Given the description of an element on the screen output the (x, y) to click on. 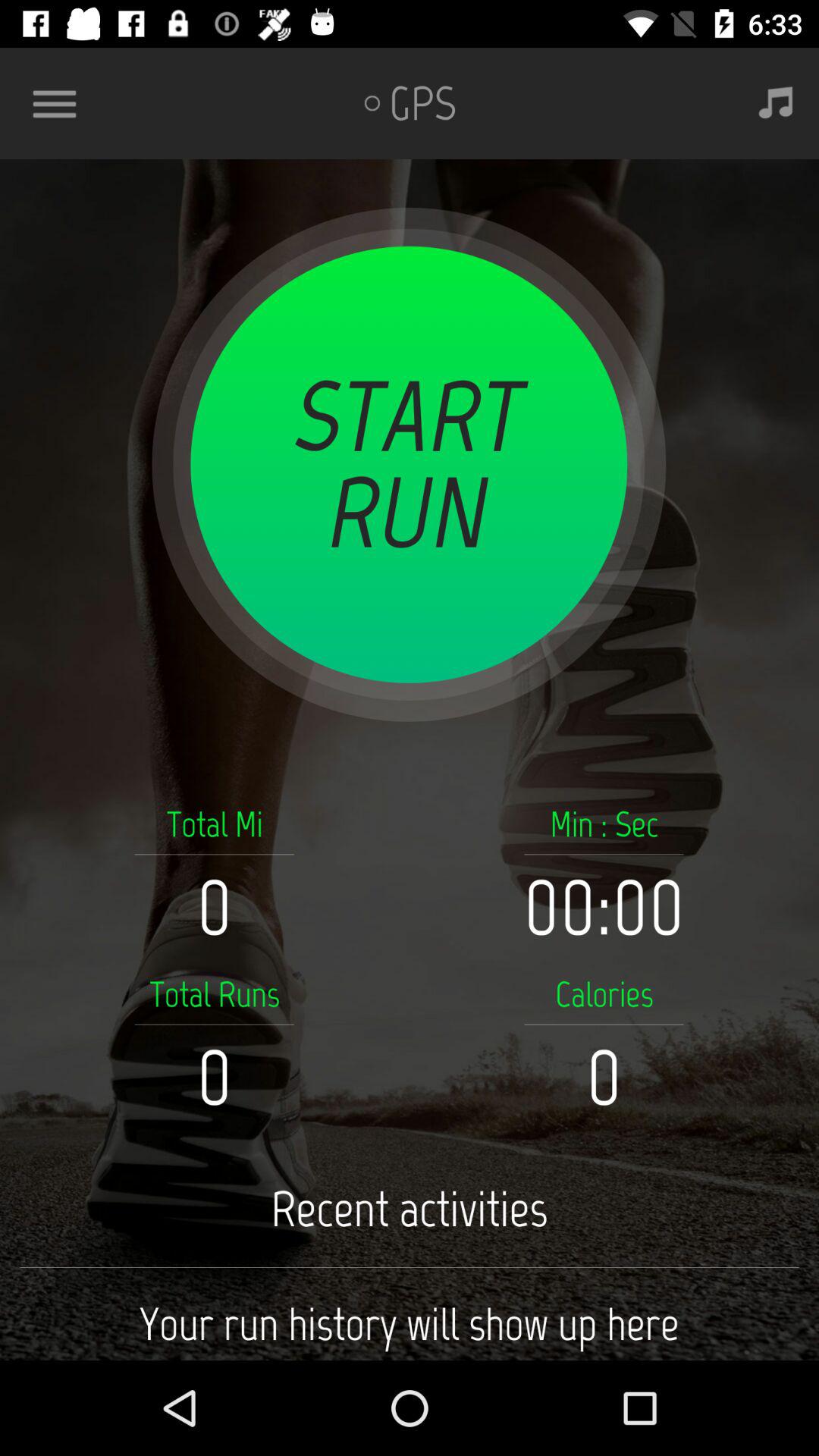
turn off icon to the right of gps icon (776, 103)
